Given the description of an element on the screen output the (x, y) to click on. 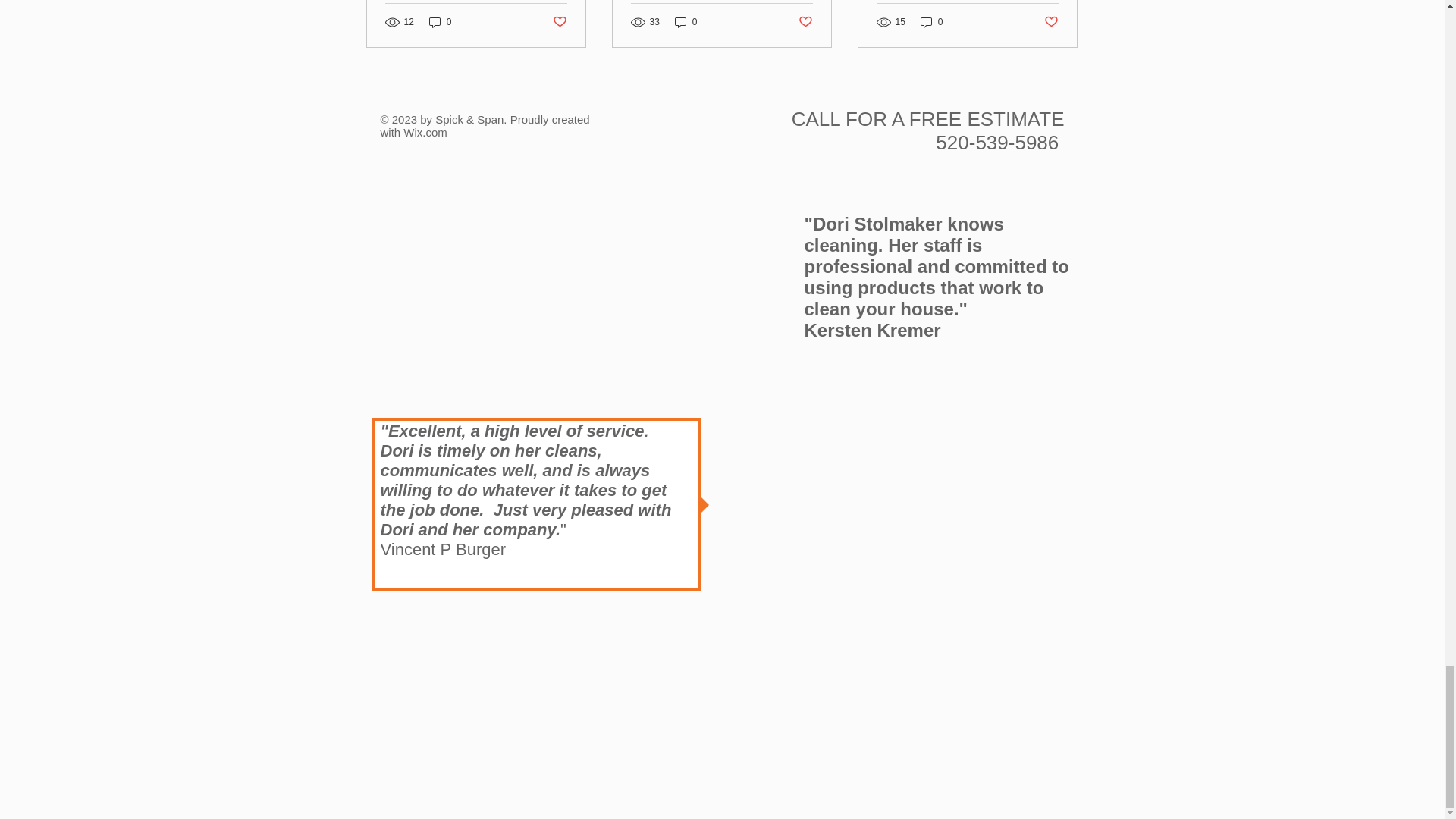
Post not marked as liked (1050, 22)
Post not marked as liked (558, 22)
Post not marked as liked (804, 22)
0 (440, 22)
Wix.com (424, 132)
0 (685, 22)
0 (931, 22)
